Given the description of an element on the screen output the (x, y) to click on. 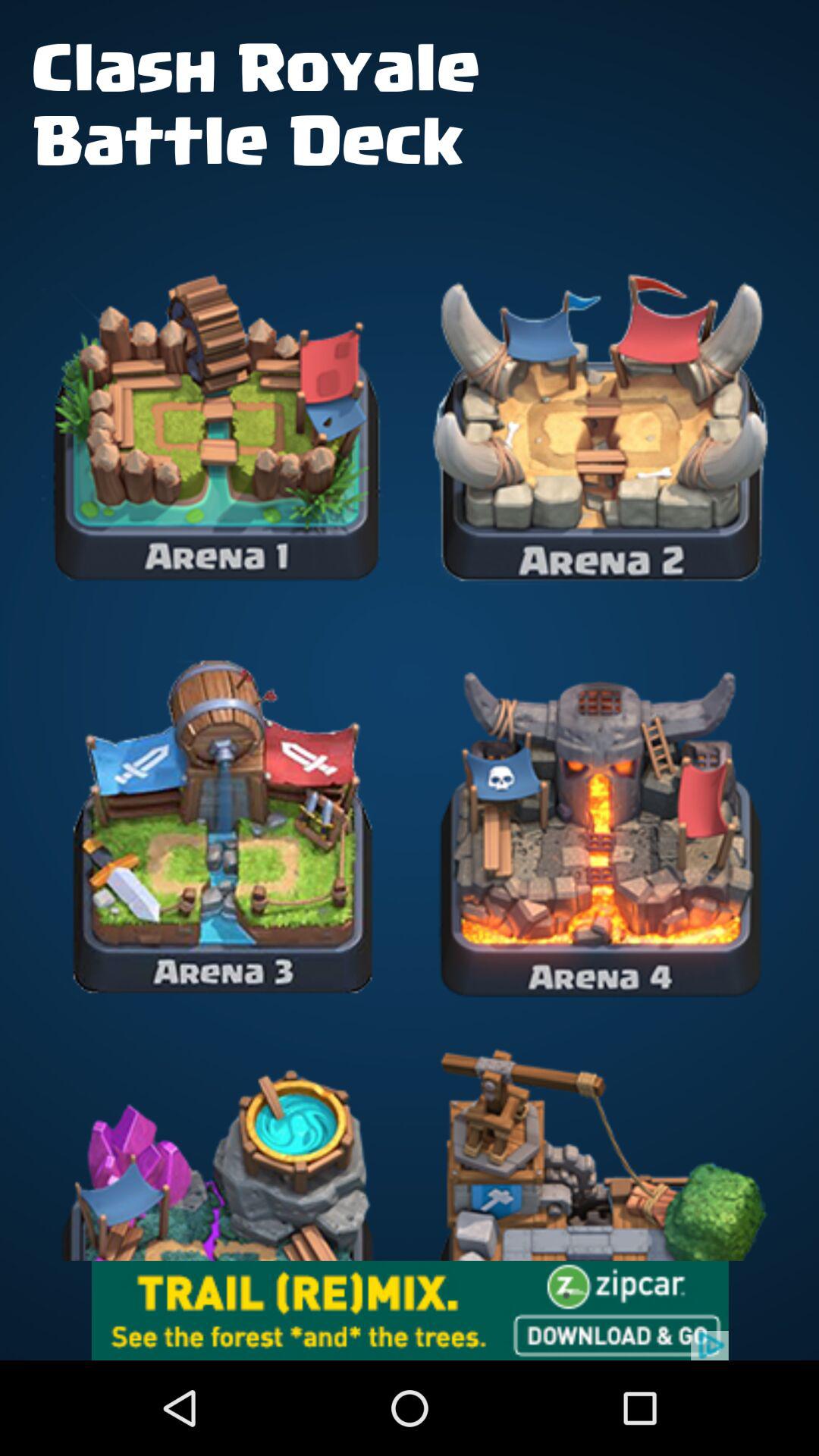
advertise banner (409, 1310)
